Given the description of an element on the screen output the (x, y) to click on. 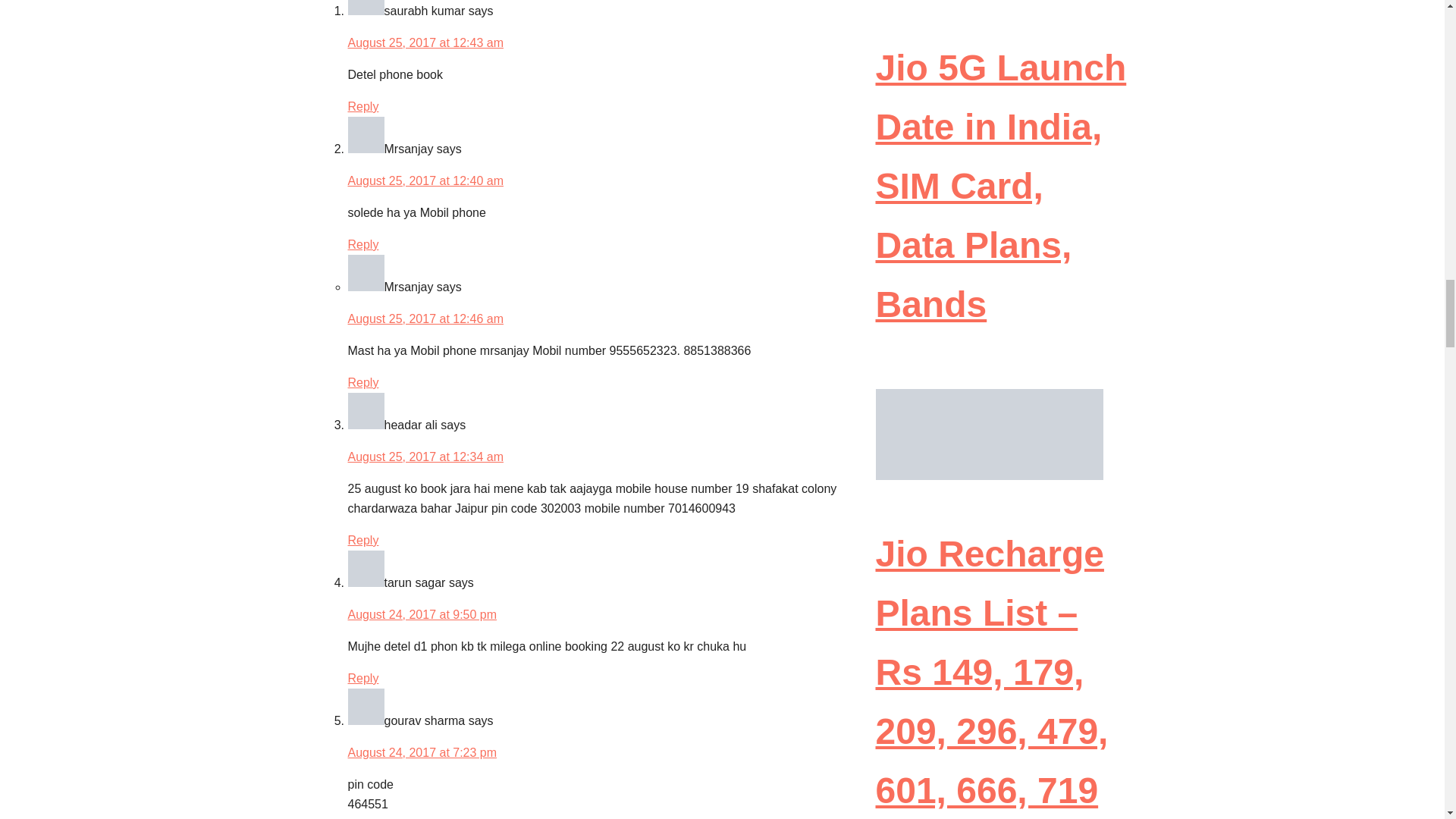
Reply (362, 382)
Reply (362, 540)
August 25, 2017 at 12:34 am (424, 456)
August 25, 2017 at 12:40 am (424, 180)
August 25, 2017 at 12:46 am (424, 318)
August 24, 2017 at 9:50 pm (421, 614)
August 25, 2017 at 12:43 am (424, 42)
Reply (362, 677)
August 24, 2017 at 7:23 pm (421, 752)
Reply (362, 244)
Reply (362, 106)
